Given the description of an element on the screen output the (x, y) to click on. 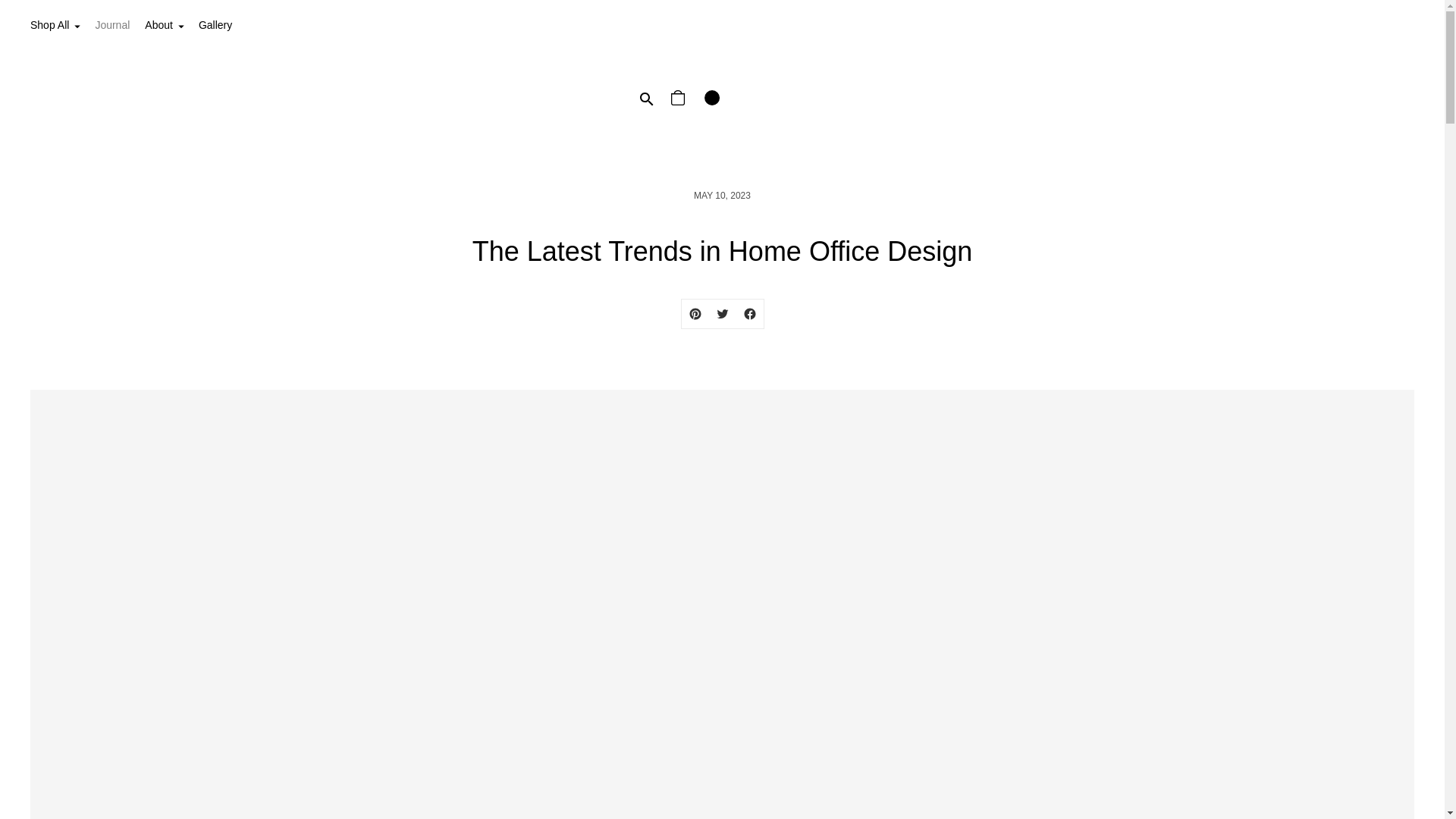
Search (645, 99)
Share to Pinterest (694, 313)
Share to twitter (721, 313)
Account (712, 99)
Shop All (55, 25)
Gallery (214, 25)
Cart (678, 99)
Journal (111, 25)
Share to Facebook (748, 313)
About (163, 25)
